Given the description of an element on the screen output the (x, y) to click on. 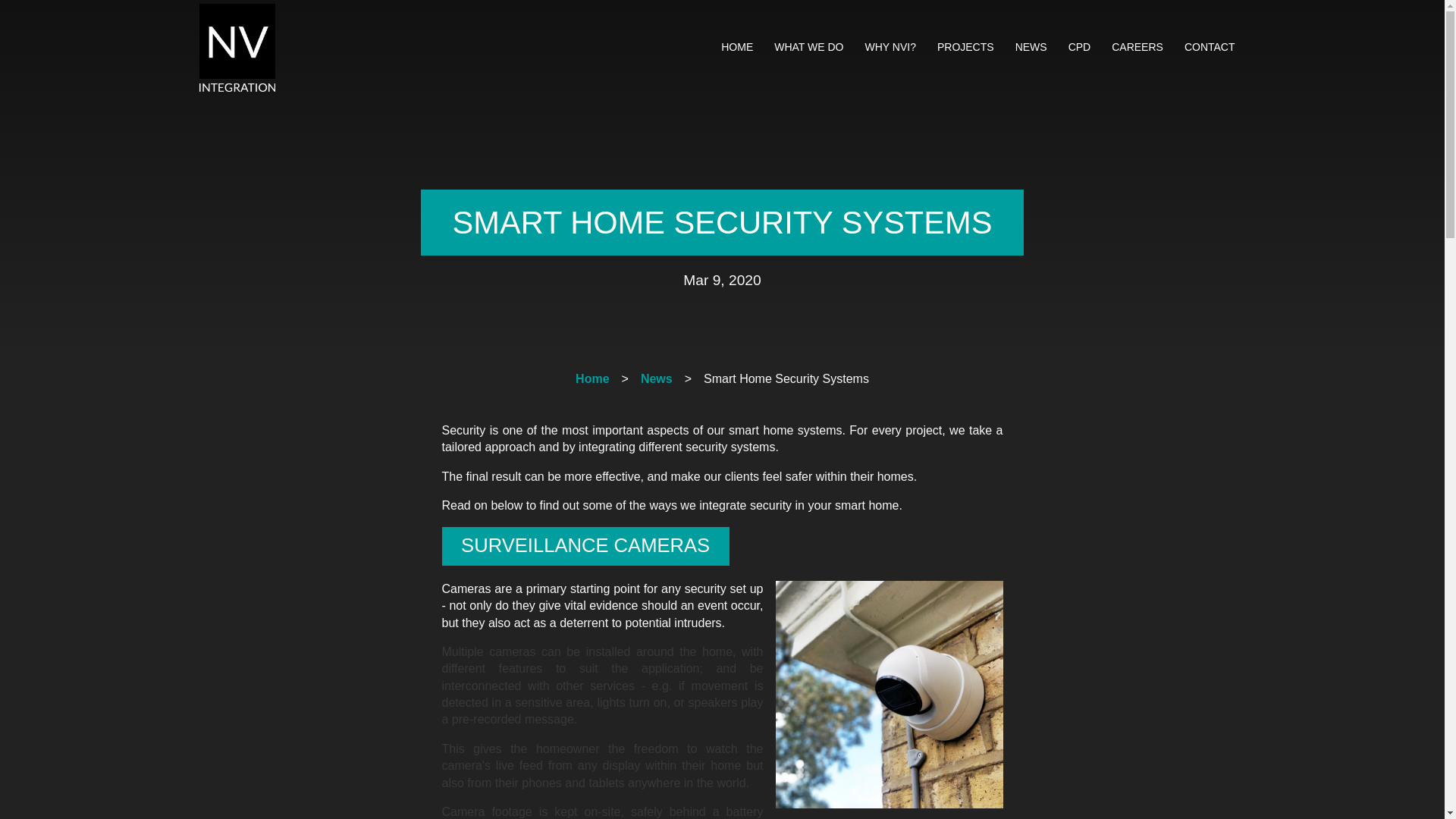
NEWS (1031, 47)
Home (591, 378)
CPD (1080, 47)
HOME (736, 47)
CAREERS (1136, 47)
WHAT WE DO (807, 47)
WHY NVI? (889, 47)
News (656, 378)
CONTACT (1209, 47)
PROJECTS (965, 47)
